Given the description of an element on the screen output the (x, y) to click on. 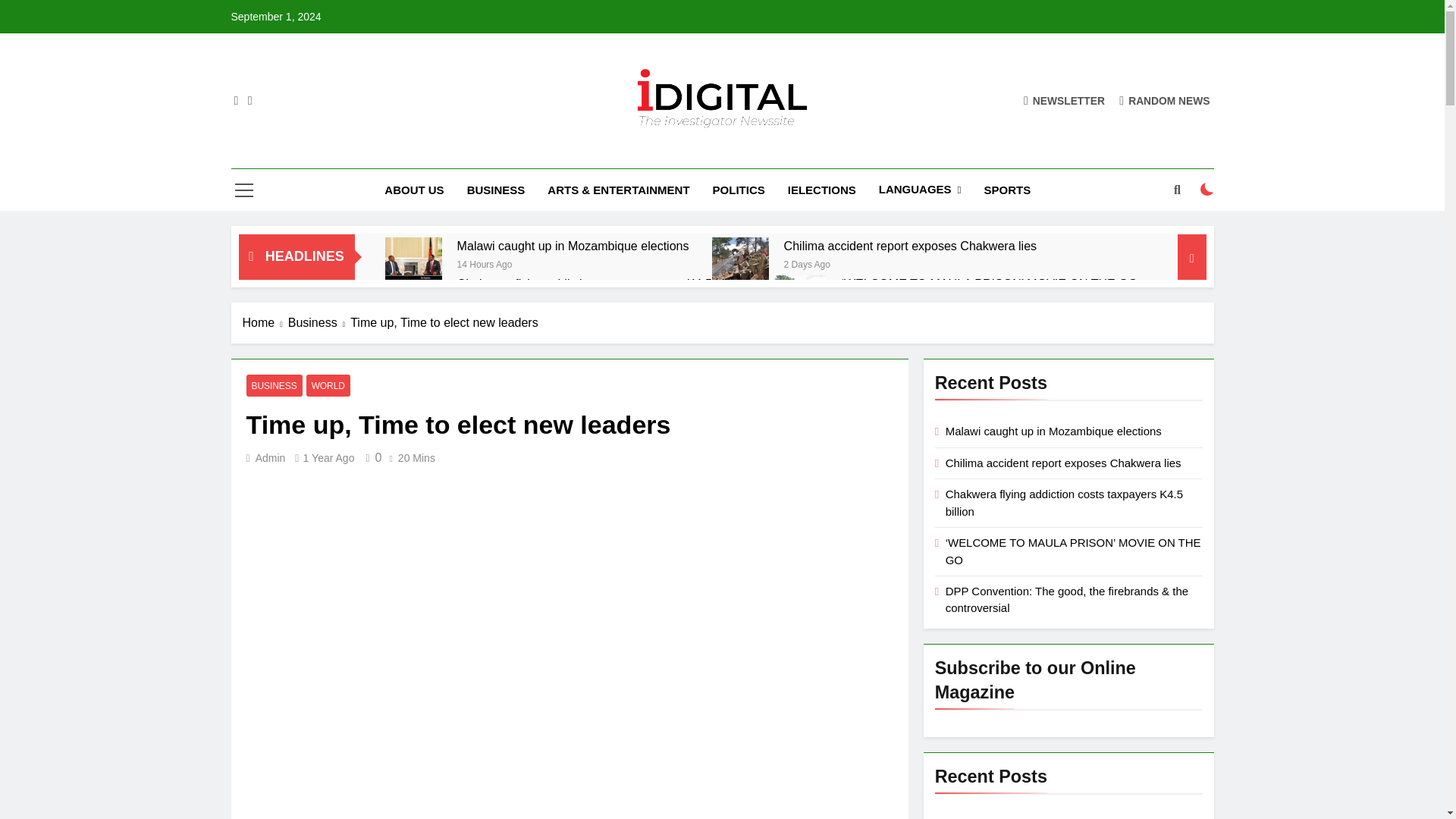
2 Days Ago (806, 263)
NEWSLETTER (1064, 100)
BUSINESS (496, 189)
Chilima accident report exposes Chakwera lies (910, 246)
on (1206, 189)
Chilima accident report exposes Chakwera lies (739, 265)
Chilima accident report exposes Chakwera lies (910, 246)
Malawi caught up in Mozambique elections (572, 246)
SPORTS (1007, 189)
Malawi caught up in Mozambique elections (572, 246)
